Given the description of an element on the screen output the (x, y) to click on. 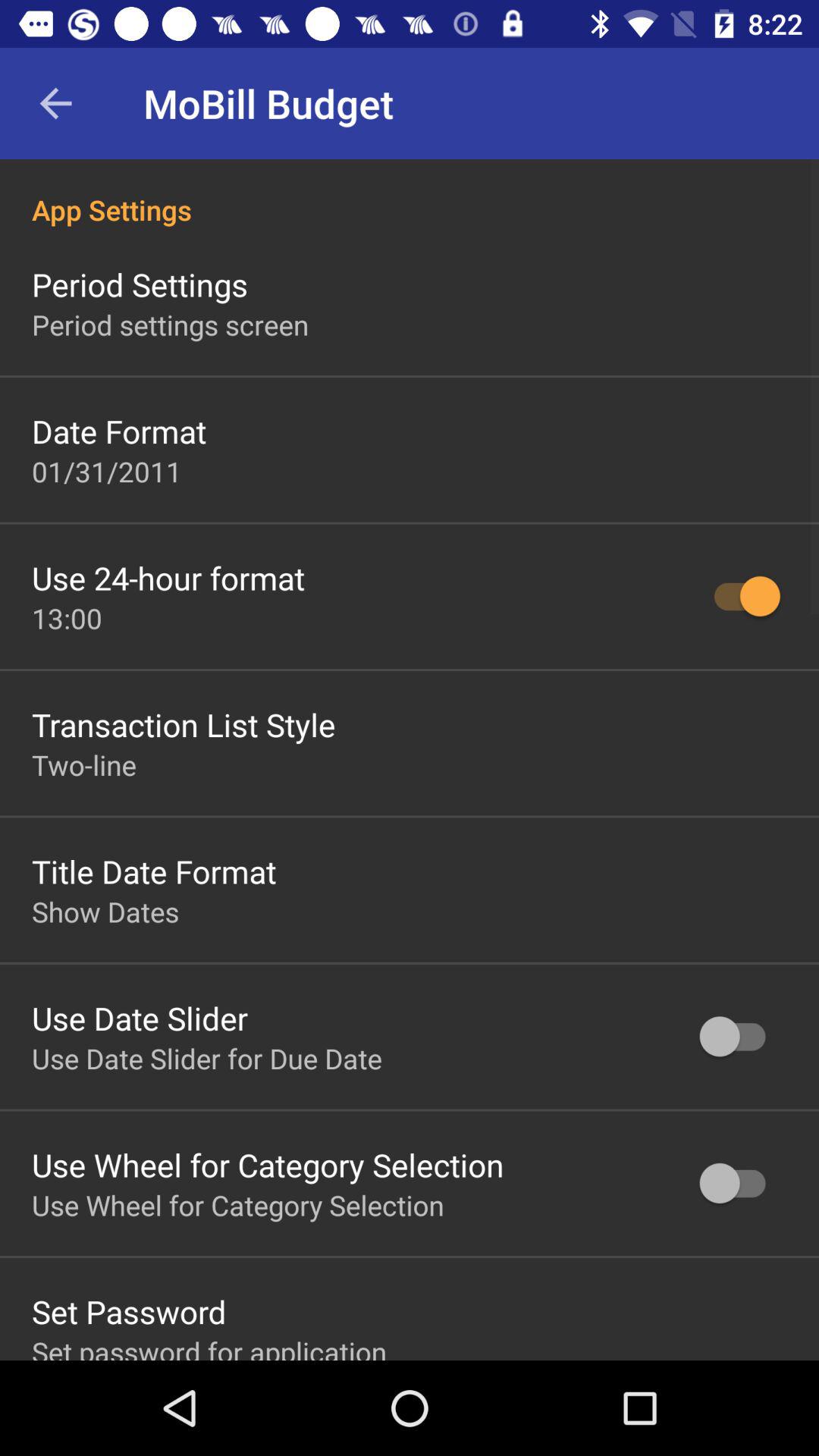
open the 01/31/2011 (106, 471)
